Given the description of an element on the screen output the (x, y) to click on. 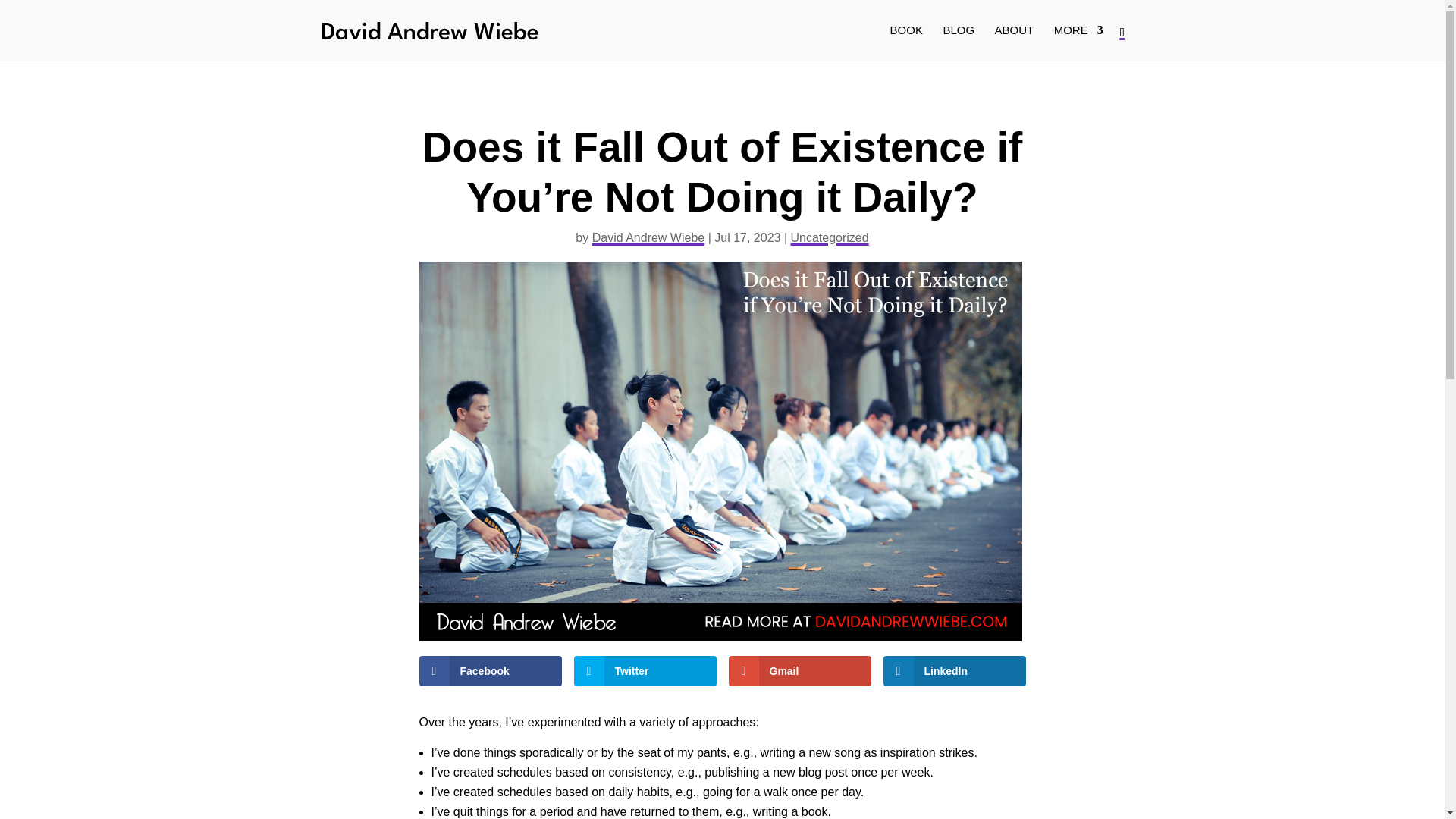
Facebook (489, 671)
ABOUT (1013, 42)
LinkedIn (953, 671)
Posts by David Andrew Wiebe (648, 237)
MORE (1078, 42)
Twitter (644, 671)
BLOG (958, 42)
Gmail (799, 671)
BOOK (906, 42)
David Andrew Wiebe (648, 237)
Uncategorized (828, 237)
